Given the description of an element on the screen output the (x, y) to click on. 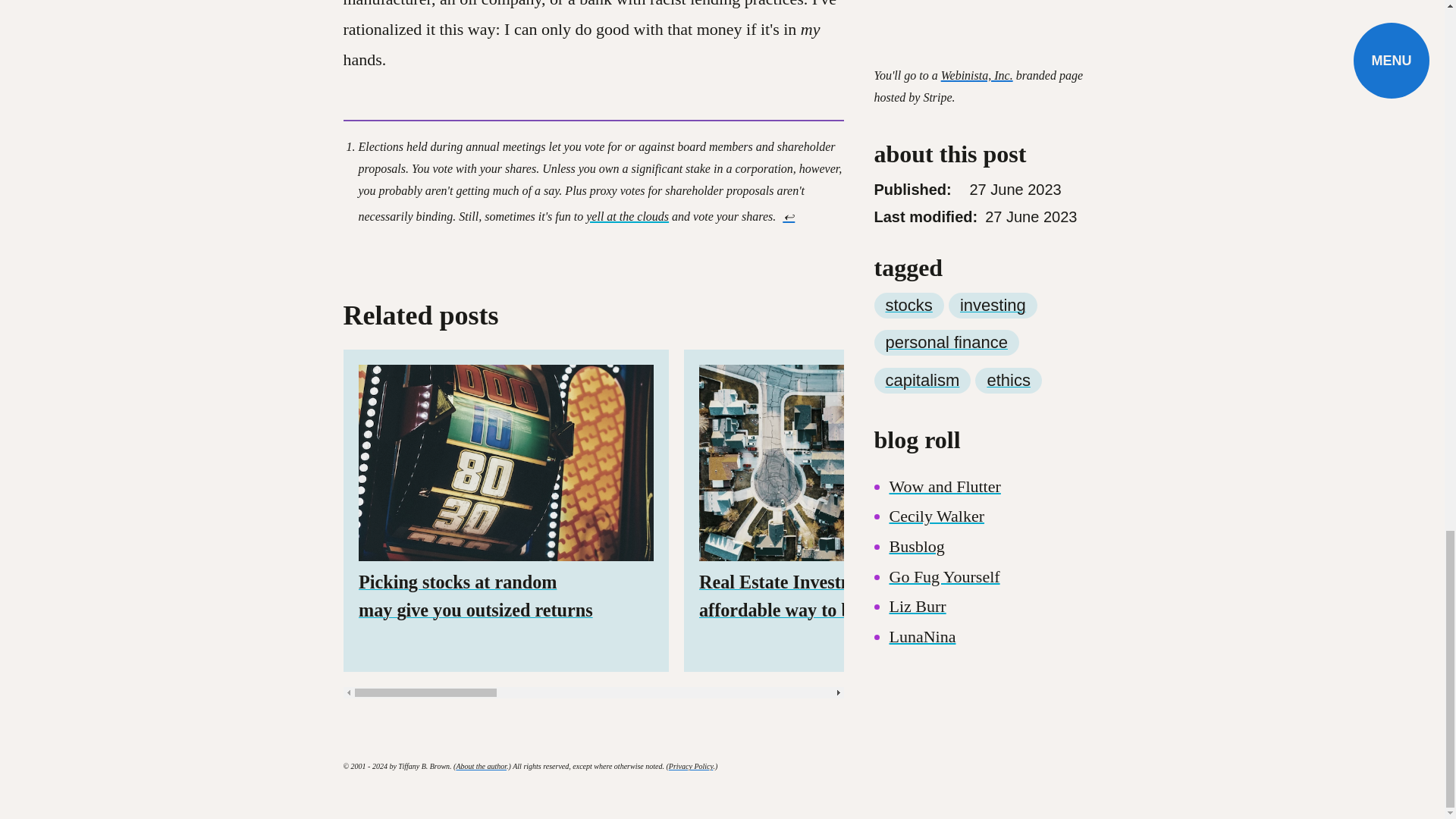
Picking stocks at random may give you outsized returns (505, 510)
About the author (480, 766)
Privacy Policy (690, 766)
Spin-off Corporations and Cash in Lieu of Fractional Shares (1186, 510)
yell at the clouds (627, 215)
